Given the description of an element on the screen output the (x, y) to click on. 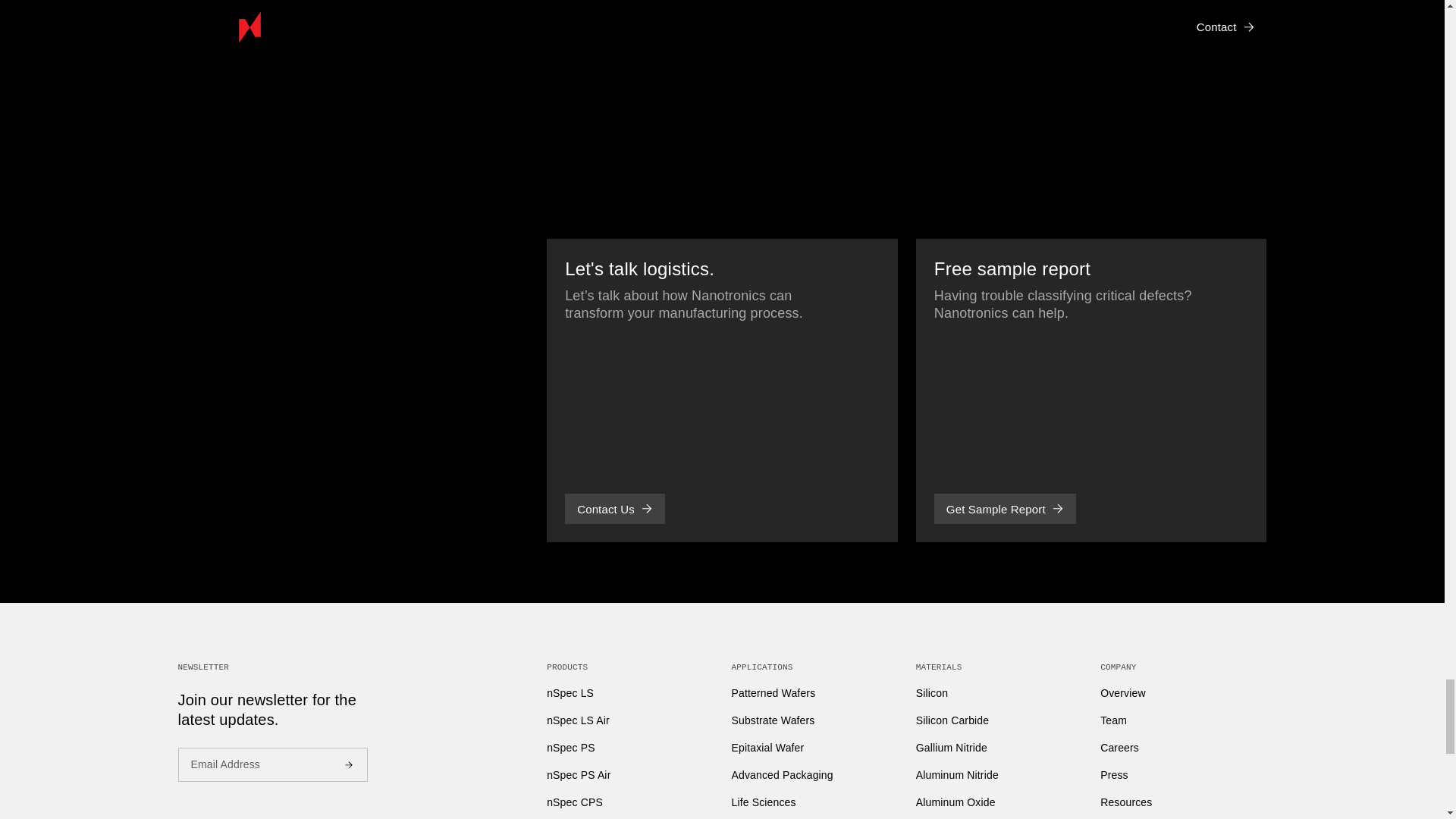
Contact Us (614, 508)
nSpec LS Air (578, 720)
Submit (347, 765)
nSpec PS (570, 748)
nSpec LS (570, 693)
nSpec CPS (574, 802)
nSpec PS Air (578, 775)
Get Sample Report (1004, 508)
